Given the description of an element on the screen output the (x, y) to click on. 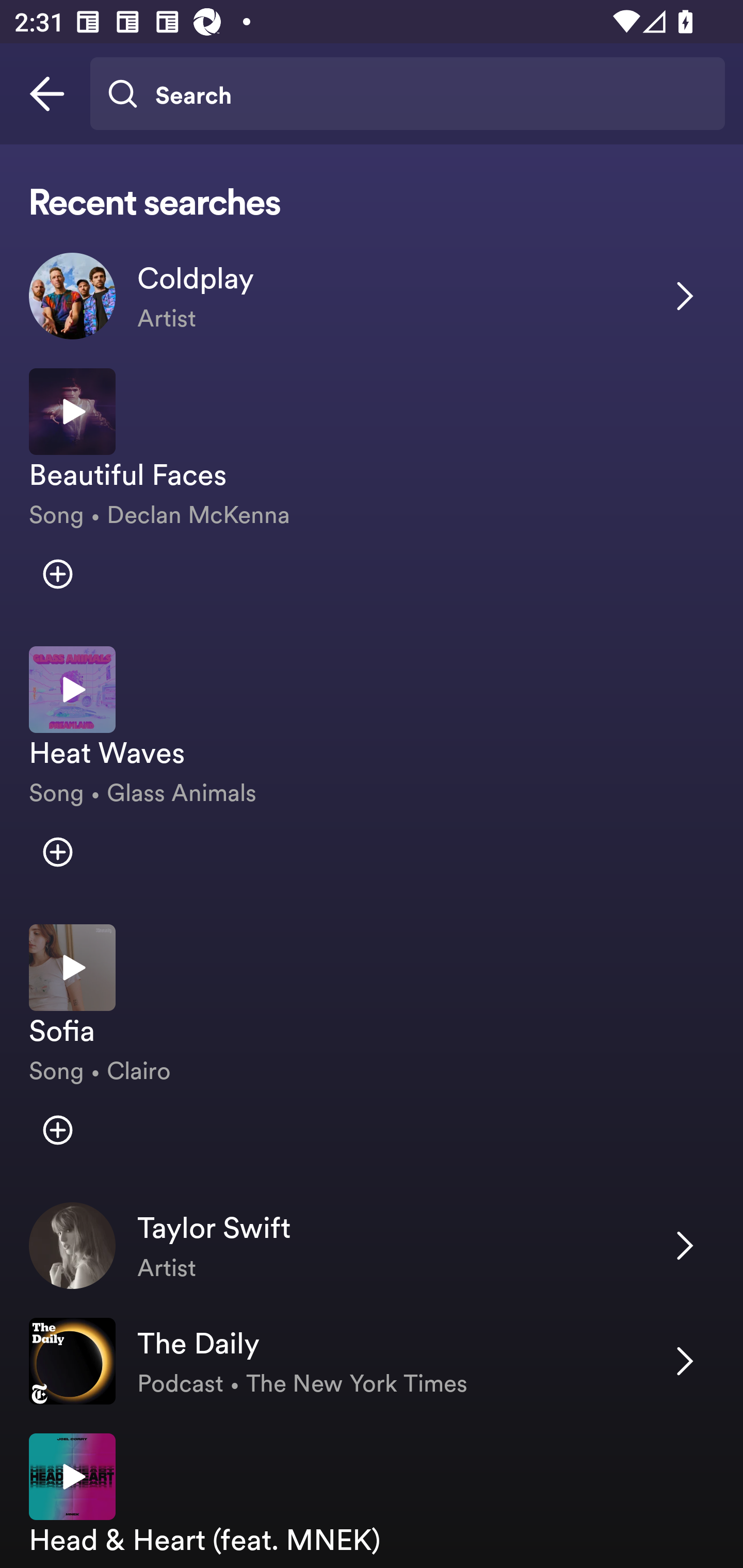
Back (46, 93)
Search (407, 94)
Coldplay Artist (371, 296)
Play preview (71, 411)
Add item (57, 573)
Play preview (71, 689)
Add item (57, 852)
Play preview Sofia Song • Clairo Add item (371, 1048)
Play preview (71, 967)
Add item (57, 1129)
Taylor Swift Artist (371, 1245)
The Daily Podcast • The New York Times (371, 1361)
Play preview (71, 1476)
